Given the description of an element on the screen output the (x, y) to click on. 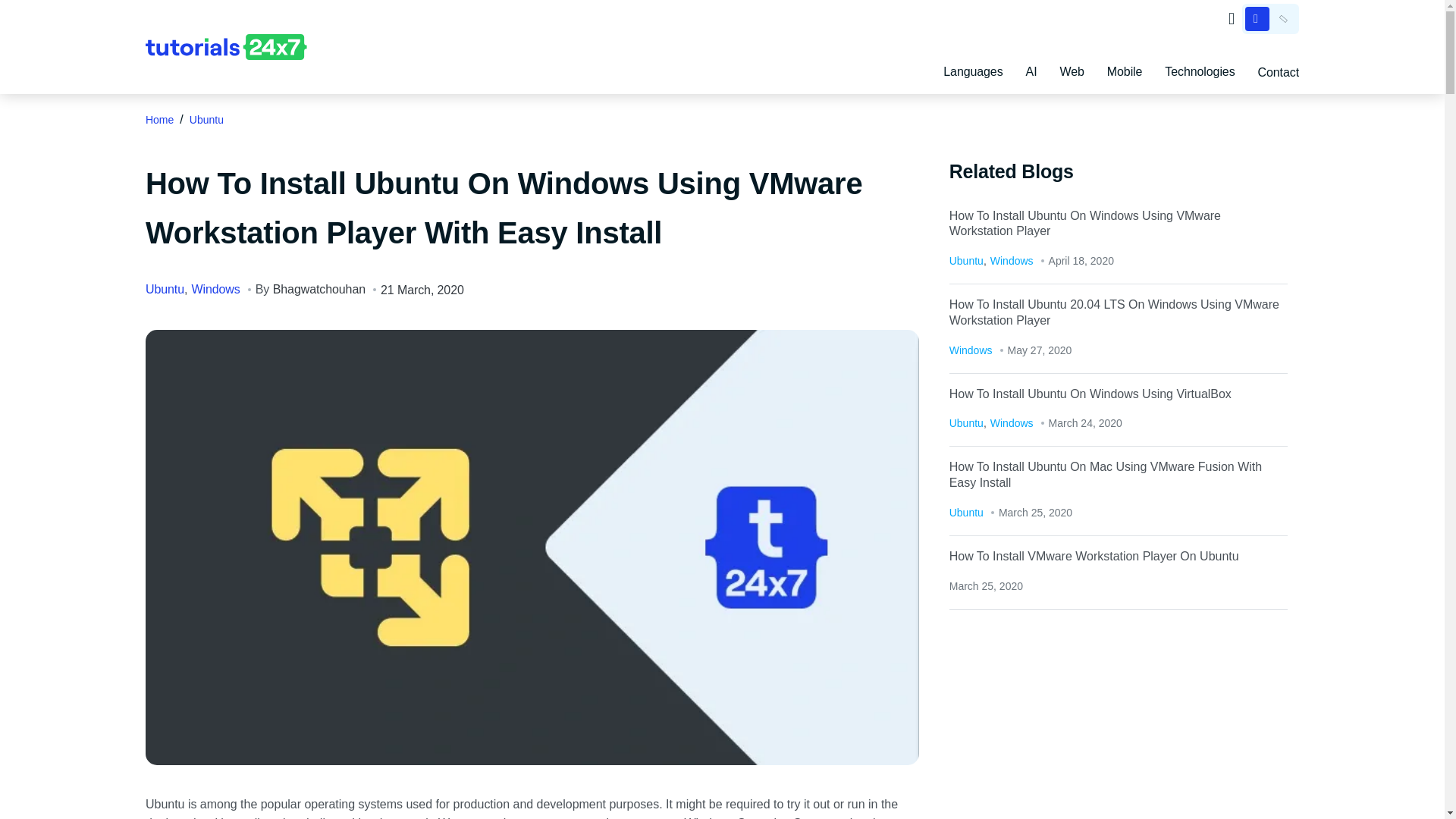
Wednesday, March 25, 2020 - 10:01 (1034, 512)
Home (159, 119)
Skip to main content (60, 10)
Contact (1277, 72)
Home (226, 47)
Ubuntu (164, 288)
Saturday, April 18, 2020 - 20:05 (1080, 260)
Windows (215, 288)
Wednesday, May 27, 2020 - 19:50 (1039, 349)
Tuesday, March 24, 2020 - 15:51 (1085, 422)
Saturday, March 21, 2020 - 11:50 (422, 289)
Wednesday, March 25, 2020 - 15:25 (986, 585)
Ubuntu (206, 119)
